Given the description of an element on the screen output the (x, y) to click on. 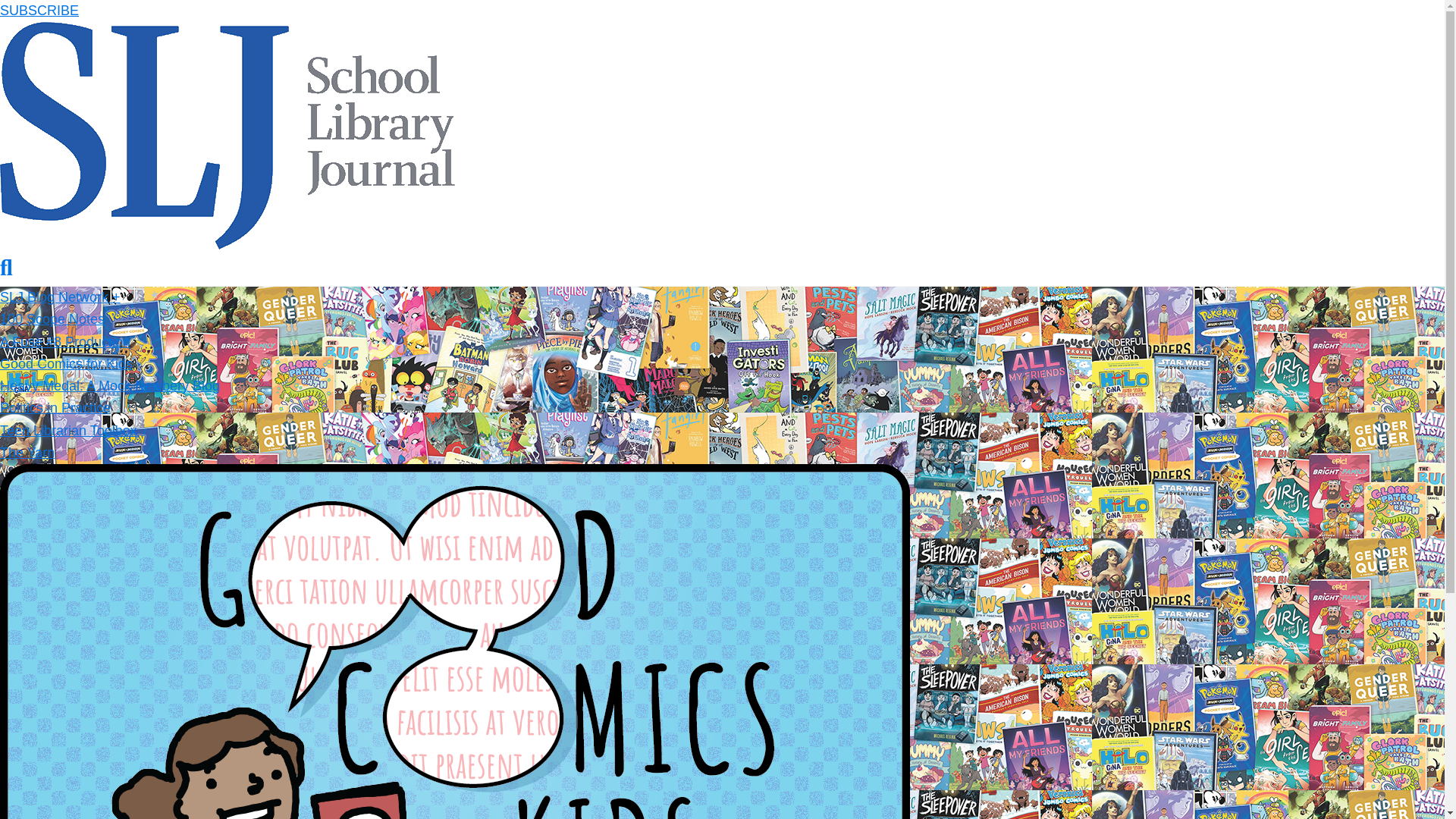
100 Scope Notes (52, 319)
Politics in Practice (55, 407)
Good Comics for Kids (66, 363)
SUBSCRIBE (39, 10)
Heavy Medal: A Mock Newbery Blog (109, 385)
Teen Librarian Toolbox (68, 430)
The Yarn (27, 452)
